Given the description of an element on the screen output the (x, y) to click on. 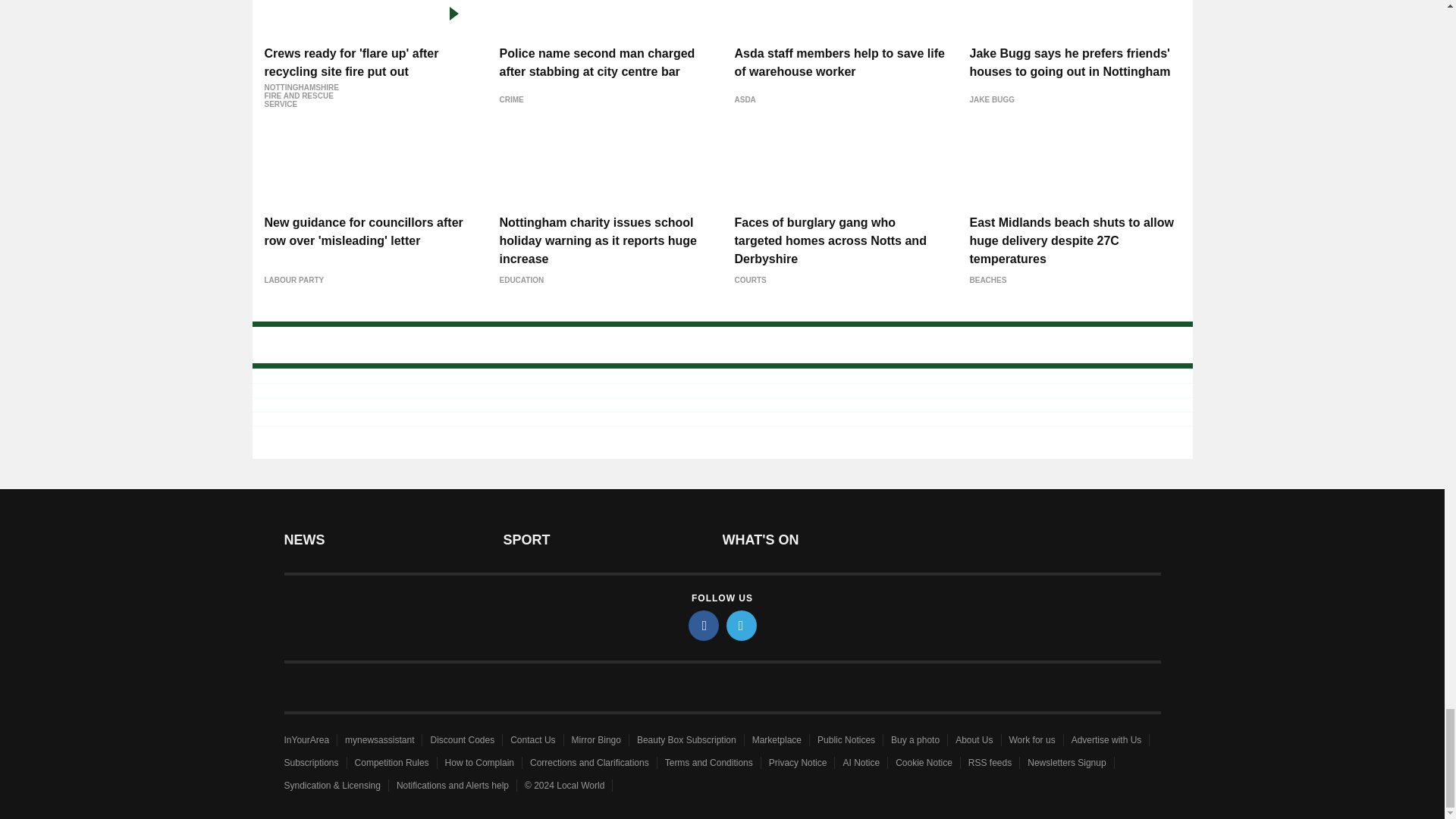
twitter (741, 625)
facebook (703, 625)
